Given the description of an element on the screen output the (x, y) to click on. 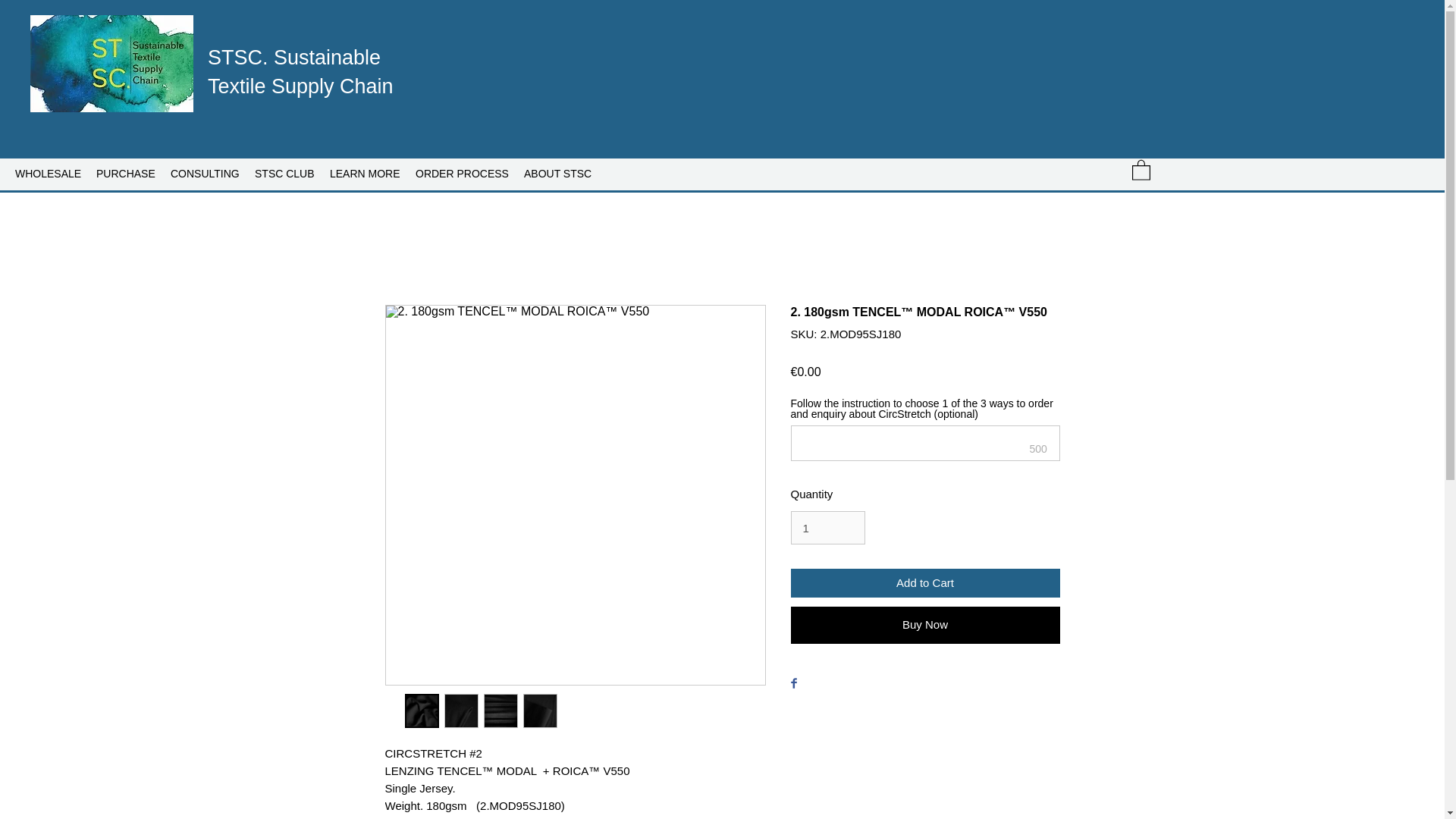
STSC CLUB (284, 173)
1 (827, 527)
WHOLESALE (47, 173)
LEARN MORE (364, 173)
CONSULTING (205, 173)
